Given the description of an element on the screen output the (x, y) to click on. 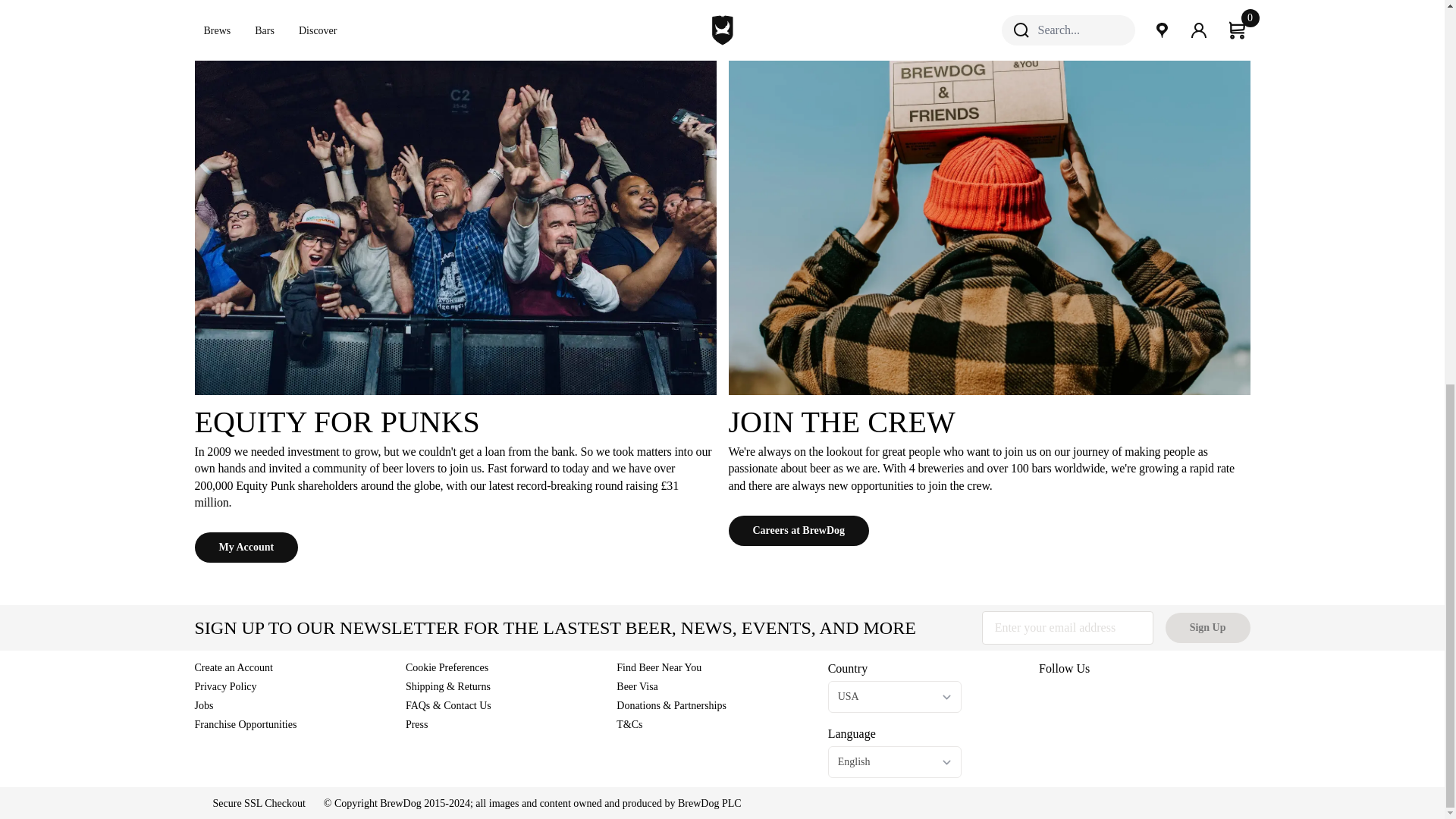
Sign Up (1208, 627)
Jobs (202, 705)
Beer Visa (636, 686)
Create an Account (232, 667)
Privacy Policy (224, 686)
Careers at BrewDog (798, 530)
Find Beer Near You (658, 667)
My Account (245, 547)
Franchise Opportunities (245, 724)
Press (417, 724)
